Given the description of an element on the screen output the (x, y) to click on. 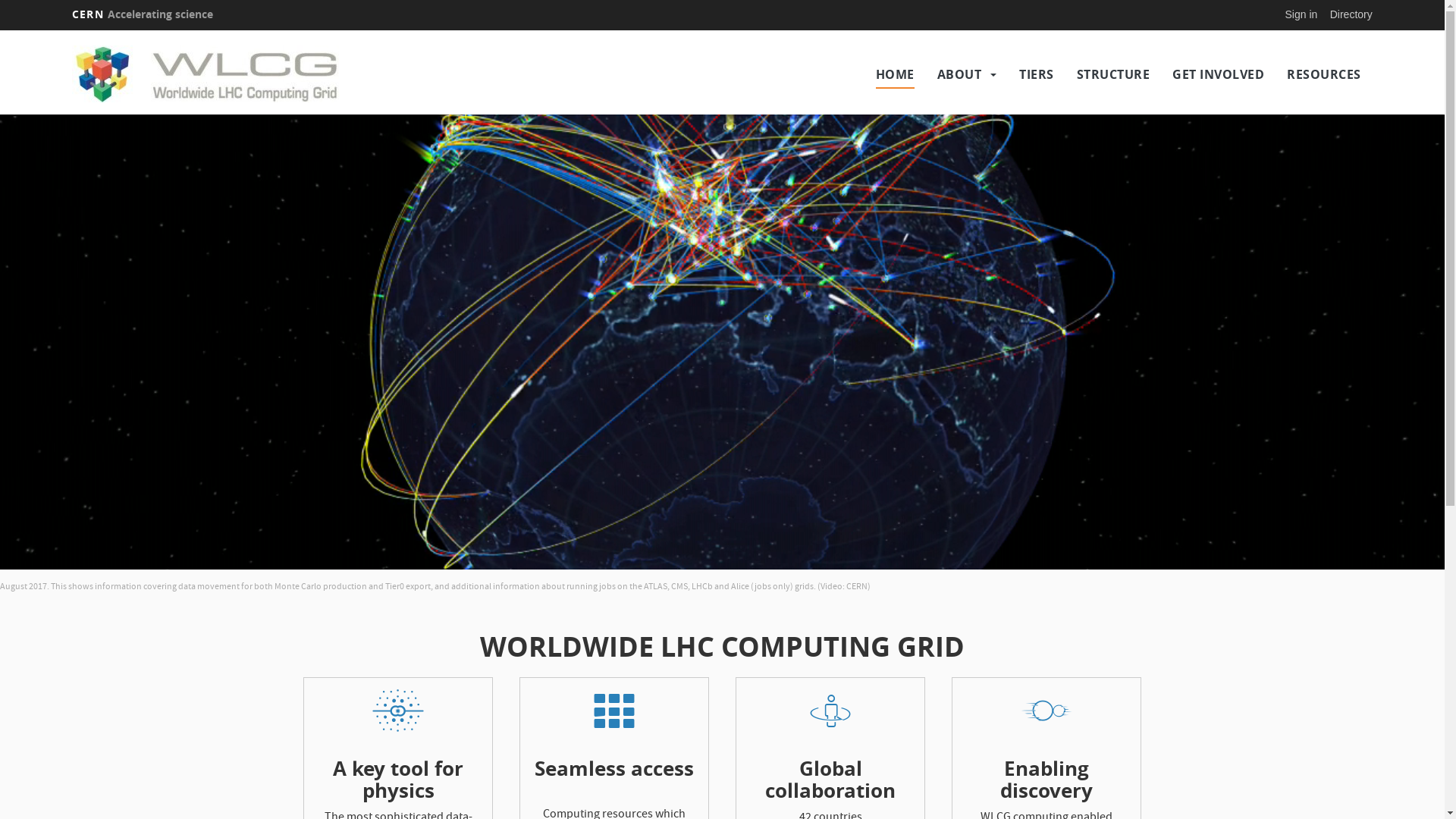
ABOUT Element type: text (959, 74)
Directory Element type: text (1351, 14)
CERN Accelerating science Element type: text (142, 14)
Sign in Element type: text (1301, 14)
TIERS Element type: text (1036, 74)
RESOURCES Element type: text (1323, 74)
Skip to main content Element type: text (0, 30)
STRUCTURE Element type: text (1113, 74)
Home Element type: hover (230, 73)
GET INVOLVED Element type: text (1218, 74)
HOME Element type: text (894, 74)
